Given the description of an element on the screen output the (x, y) to click on. 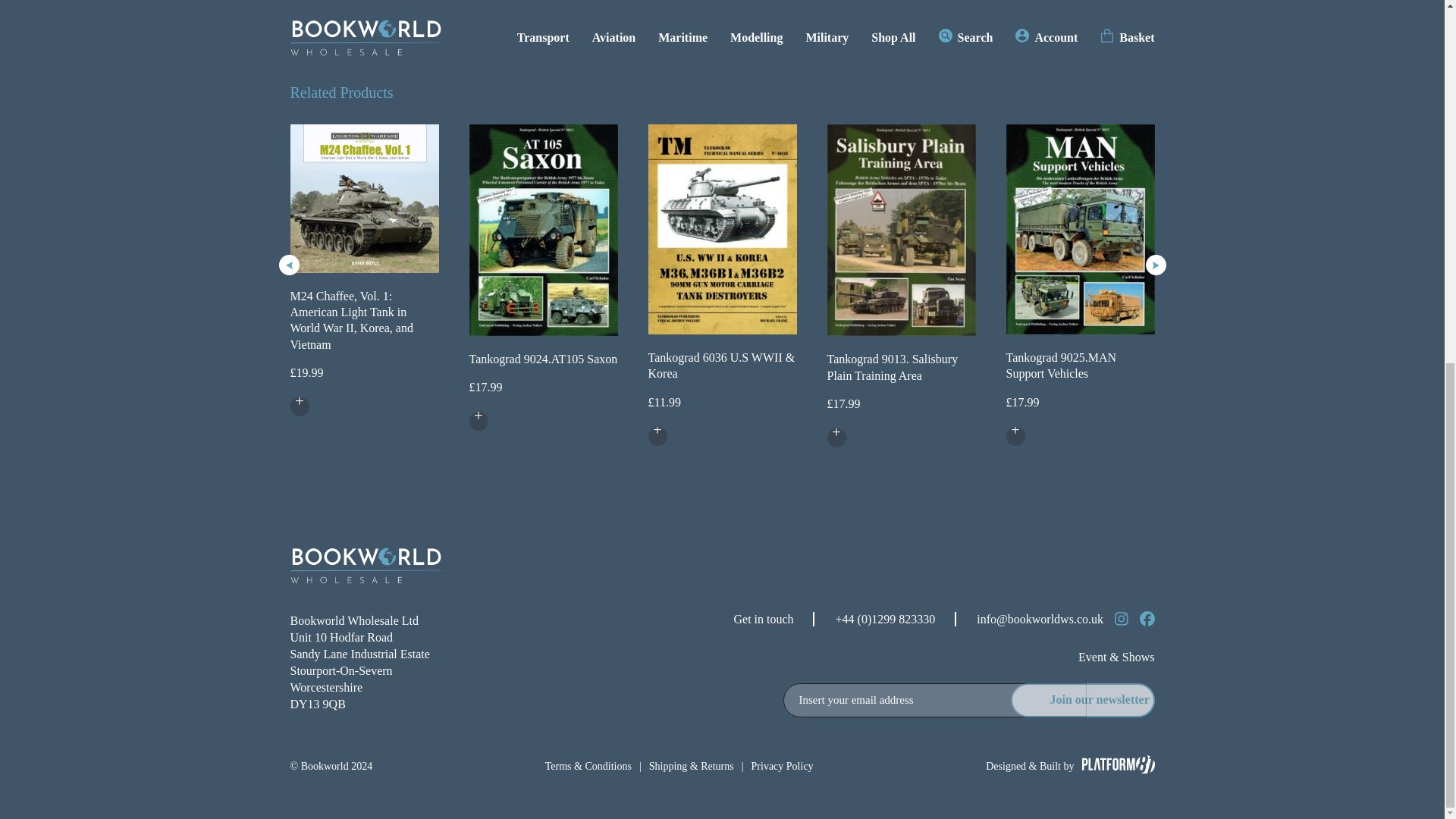
Join our newsletter (1082, 700)
